Given the description of an element on the screen output the (x, y) to click on. 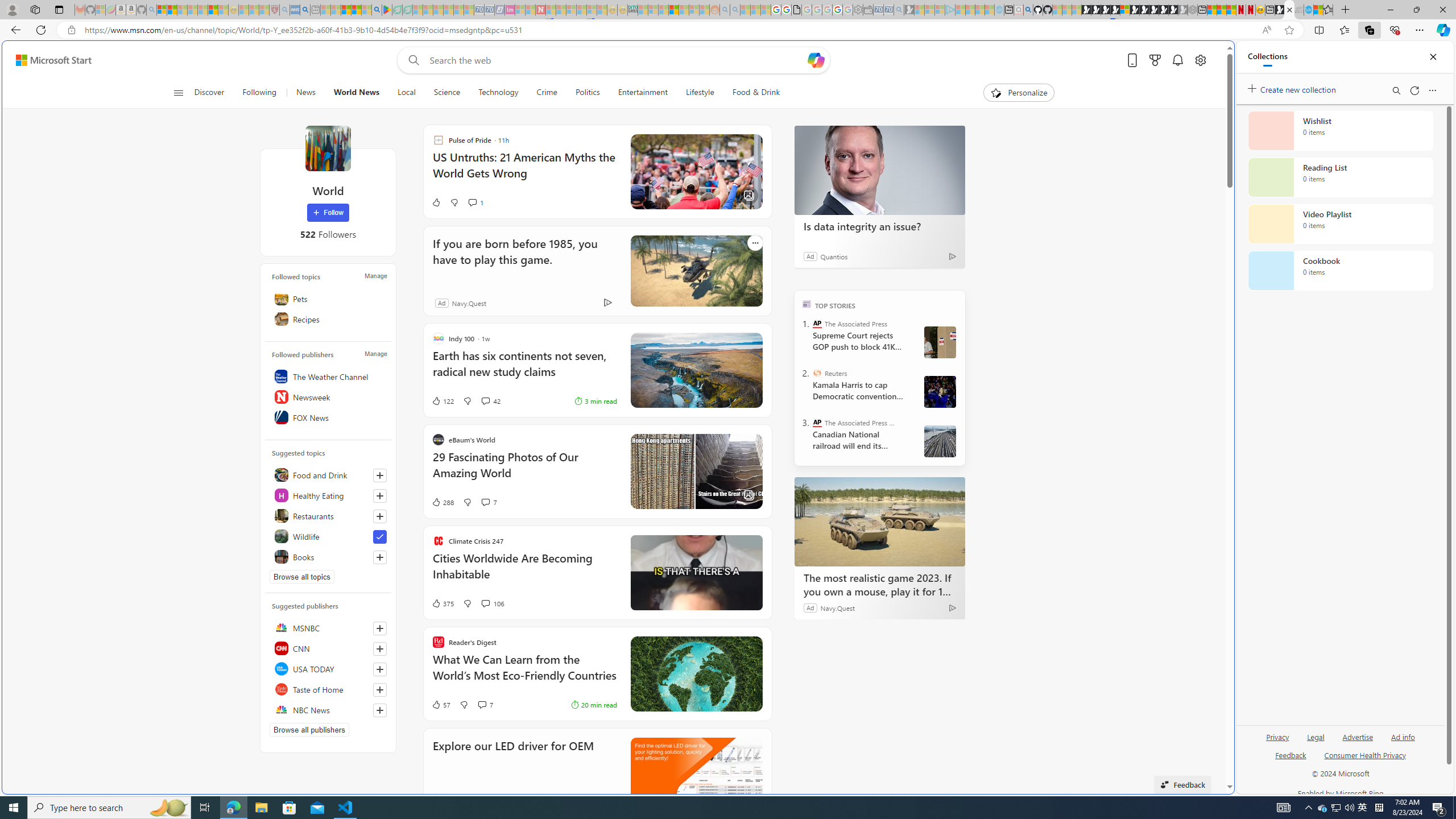
Pets - MSN (356, 9)
Search or enter web address (922, 108)
Explore our LED driver for OEM (696, 773)
View comments 106 Comment (485, 602)
FOX News (327, 417)
